Given the description of an element on the screen output the (x, y) to click on. 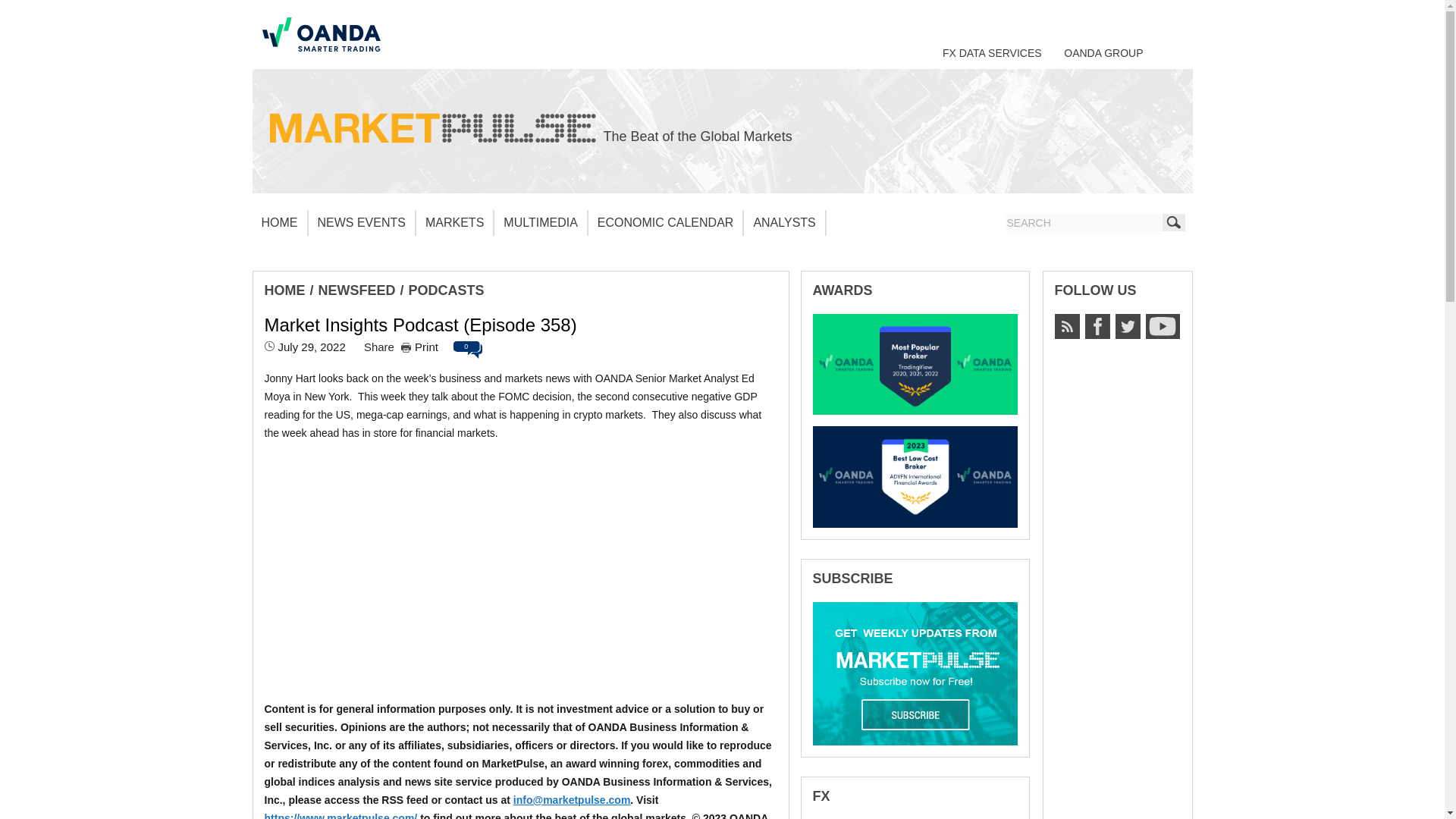
Youtube (1161, 326)
MARKETS (454, 222)
FX DATA SERVICES (992, 52)
MULTIMEDIA (540, 222)
HOME (279, 222)
HOME (283, 290)
RSS (1066, 326)
Find (1173, 221)
PODCASTS (446, 290)
Share (379, 346)
NEWSFEED (357, 290)
Print (419, 346)
ANALYSTS (784, 222)
NEWS EVENTS (360, 222)
OANDA GROUP (1103, 52)
